Given the description of an element on the screen output the (x, y) to click on. 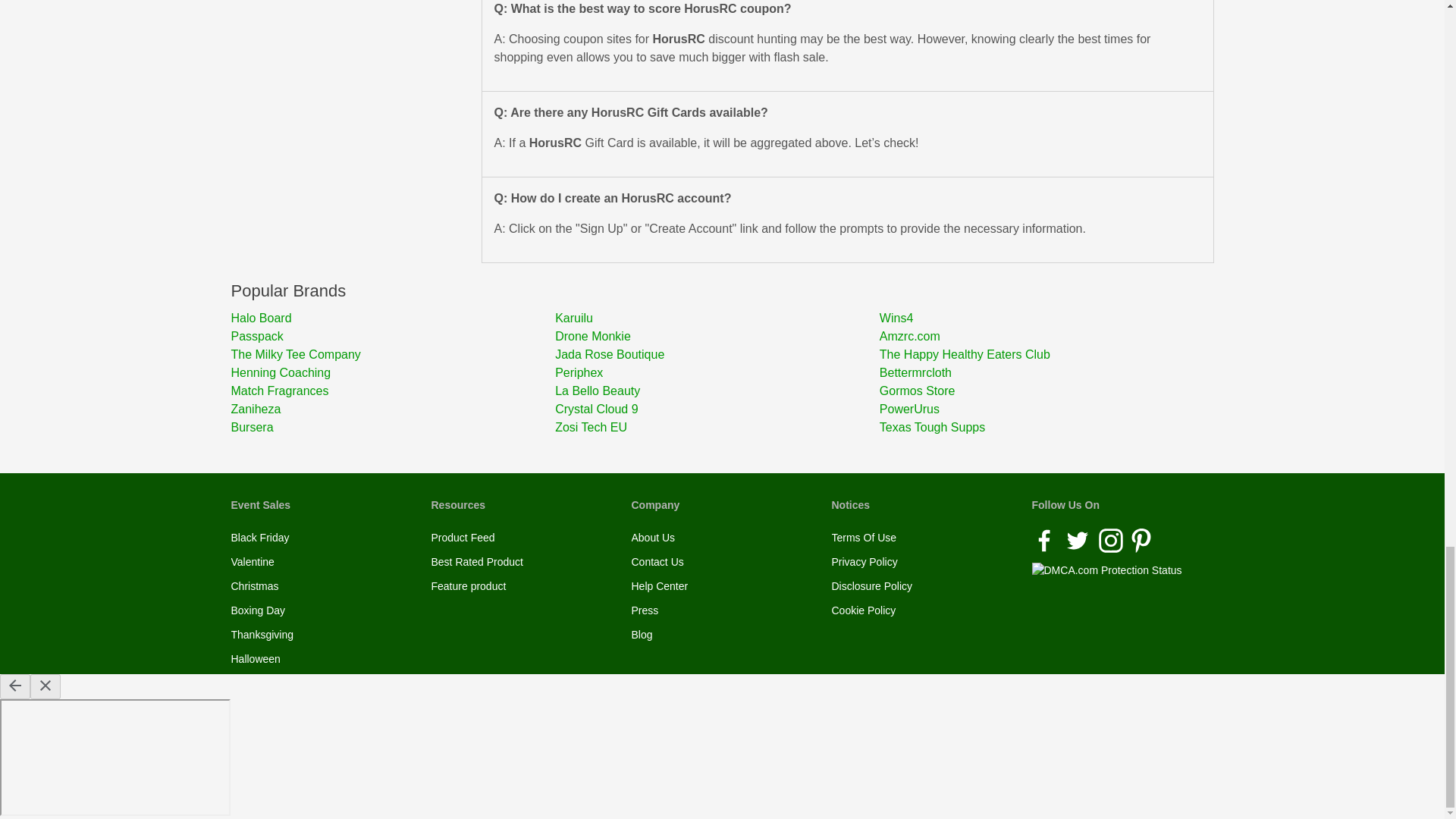
Jada Rose Boutique (716, 354)
Passpack (392, 336)
Halo Board (392, 318)
Periphex (716, 372)
Wins4 (1041, 318)
Gormos Store (1041, 391)
PowerUrus (1041, 409)
The Happy Healthy Eaters Club (1041, 354)
Karuilu (716, 318)
Texas Tough Supps (1041, 427)
The Milky Tee Company (392, 354)
Drone Monkie (716, 336)
Crystal Cloud 9 (716, 409)
Match Fragrances (392, 391)
La Bello Beauty (716, 391)
